Given the description of an element on the screen output the (x, y) to click on. 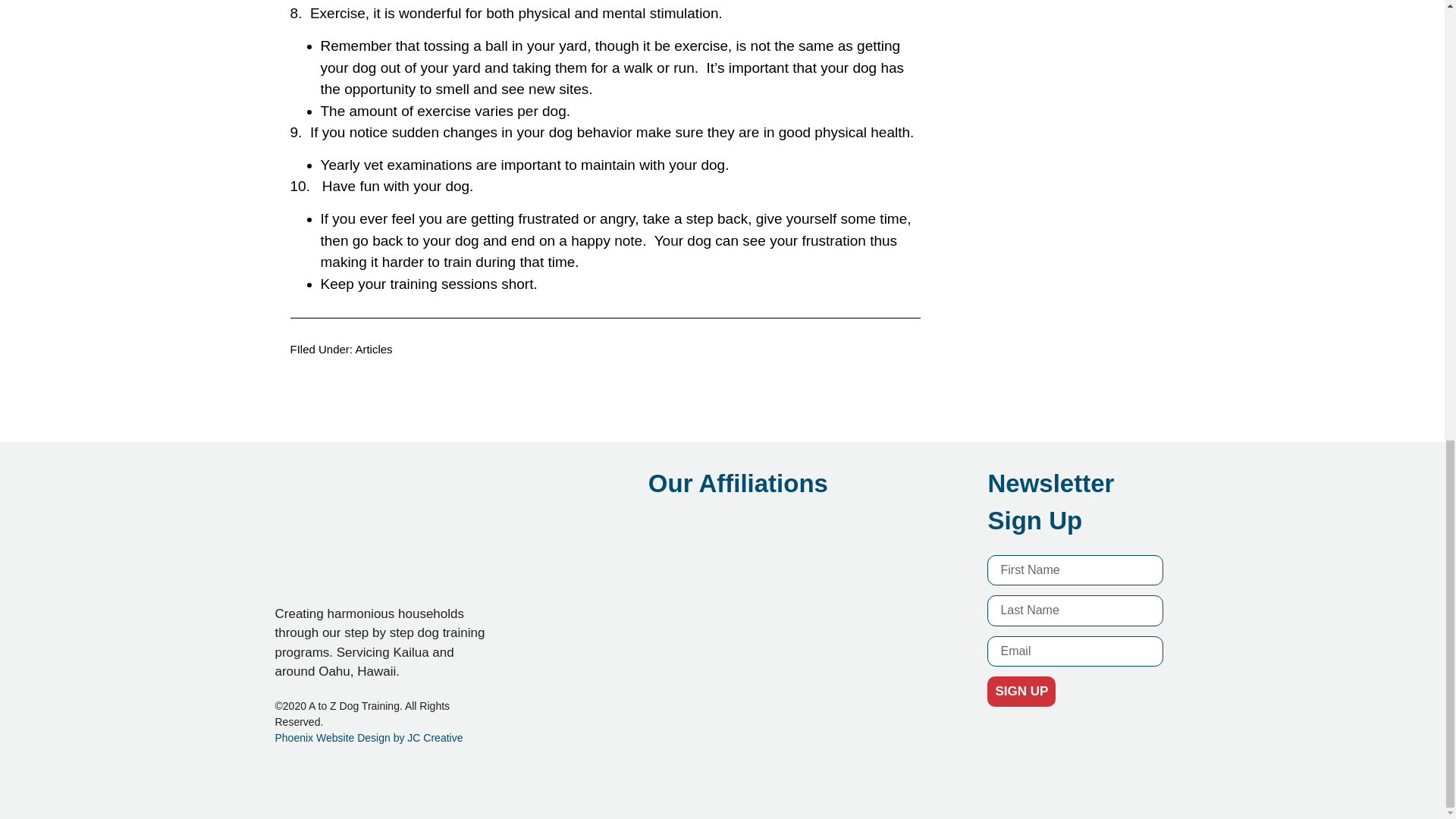
SIGN UP (1021, 691)
Phoenix Website Design by JC Creative (369, 737)
Articles (373, 349)
